Given the description of an element on the screen output the (x, y) to click on. 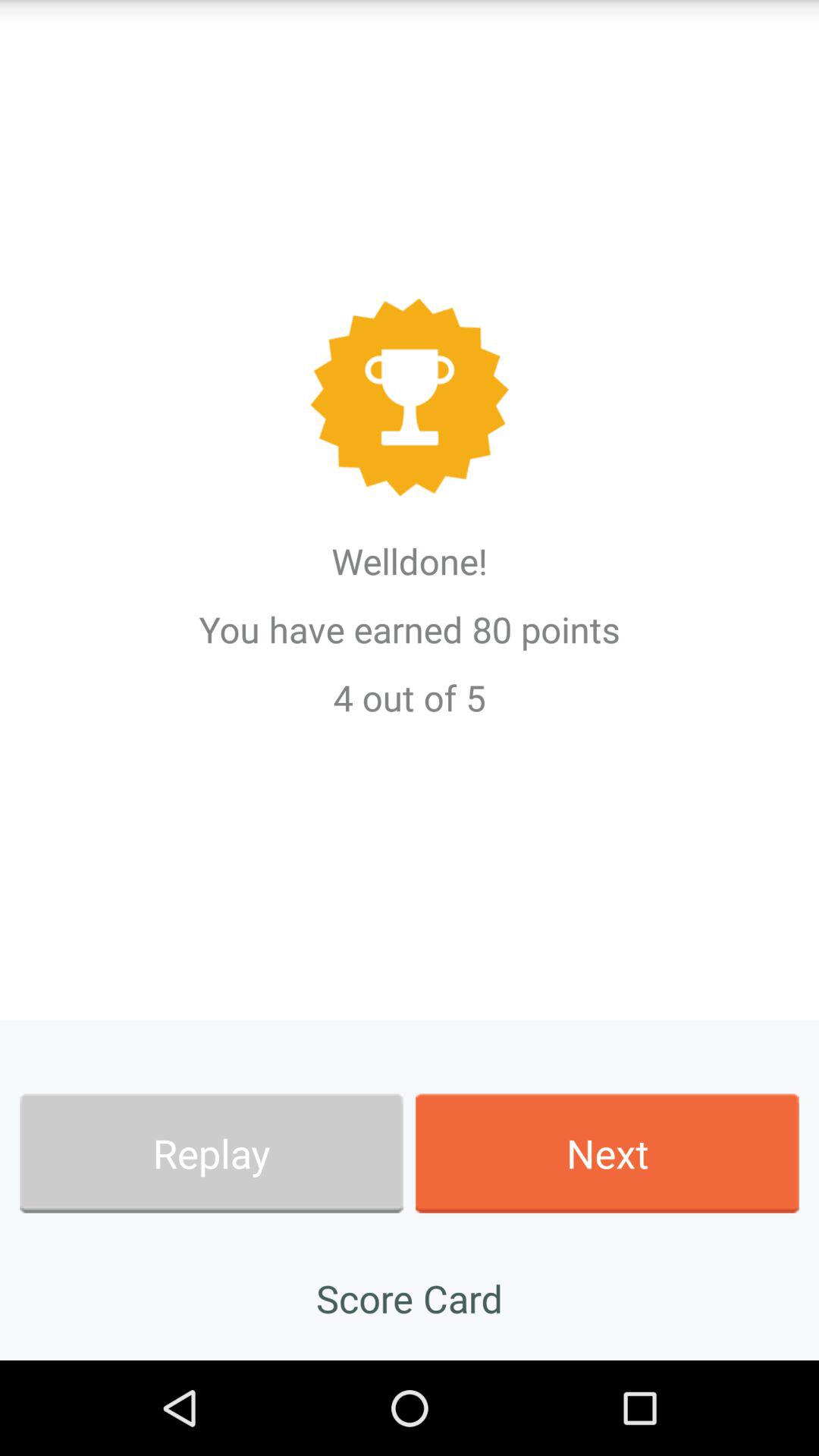
click the app at the bottom (409, 1298)
